Given the description of an element on the screen output the (x, y) to click on. 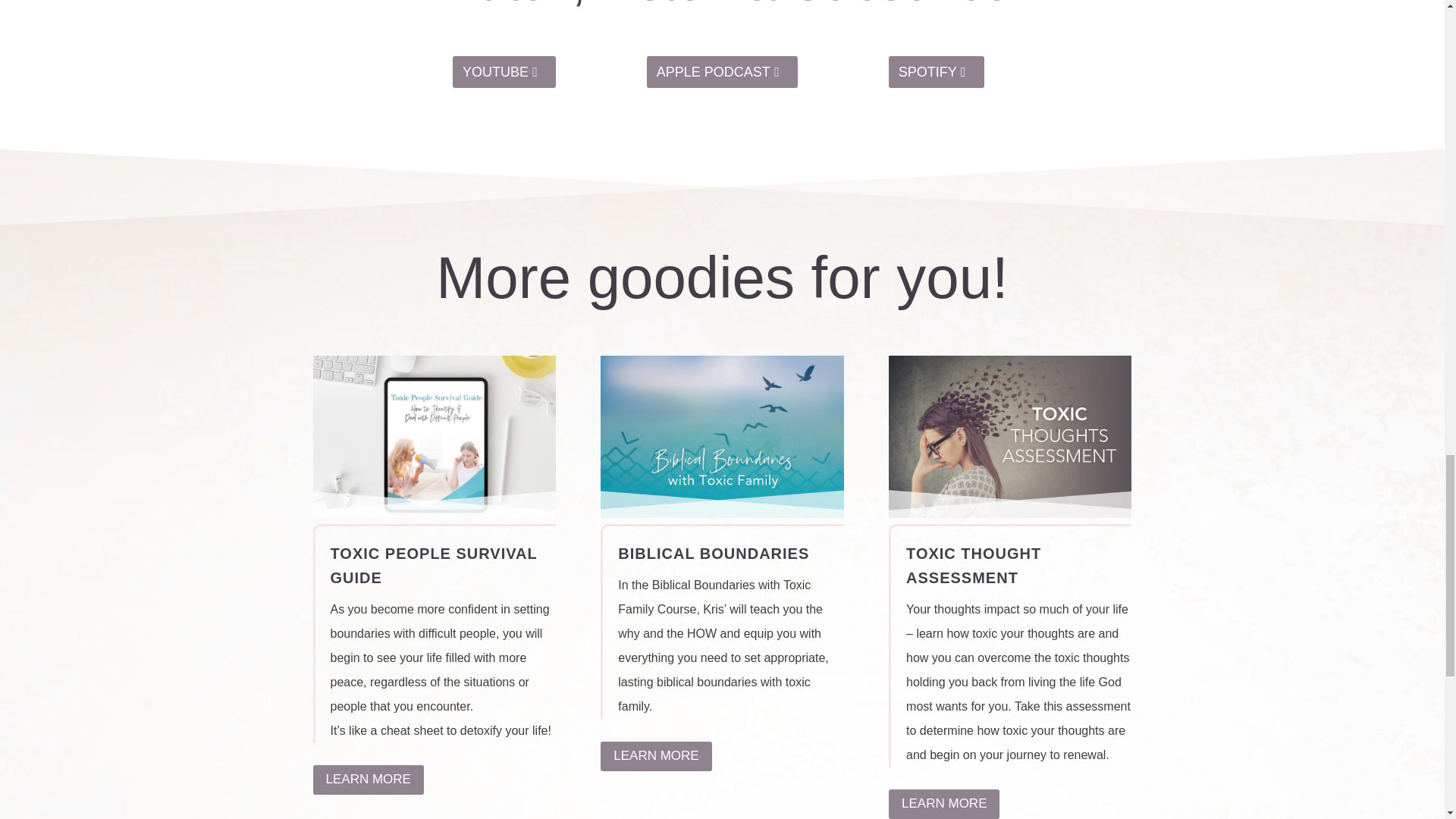
ToxicPeopleSurvivalGuide-Blog (433, 436)
SPOTIFY (936, 71)
YOUTUBE (504, 71)
LEARN MORE (368, 779)
LEARN MORE (943, 804)
ToxicThoughtsAssessment-Blog (1009, 436)
LEARN MORE (655, 756)
APPLE PODCAST (721, 71)
BiblicalBoundaries-Blog (721, 436)
